Given the description of an element on the screen output the (x, y) to click on. 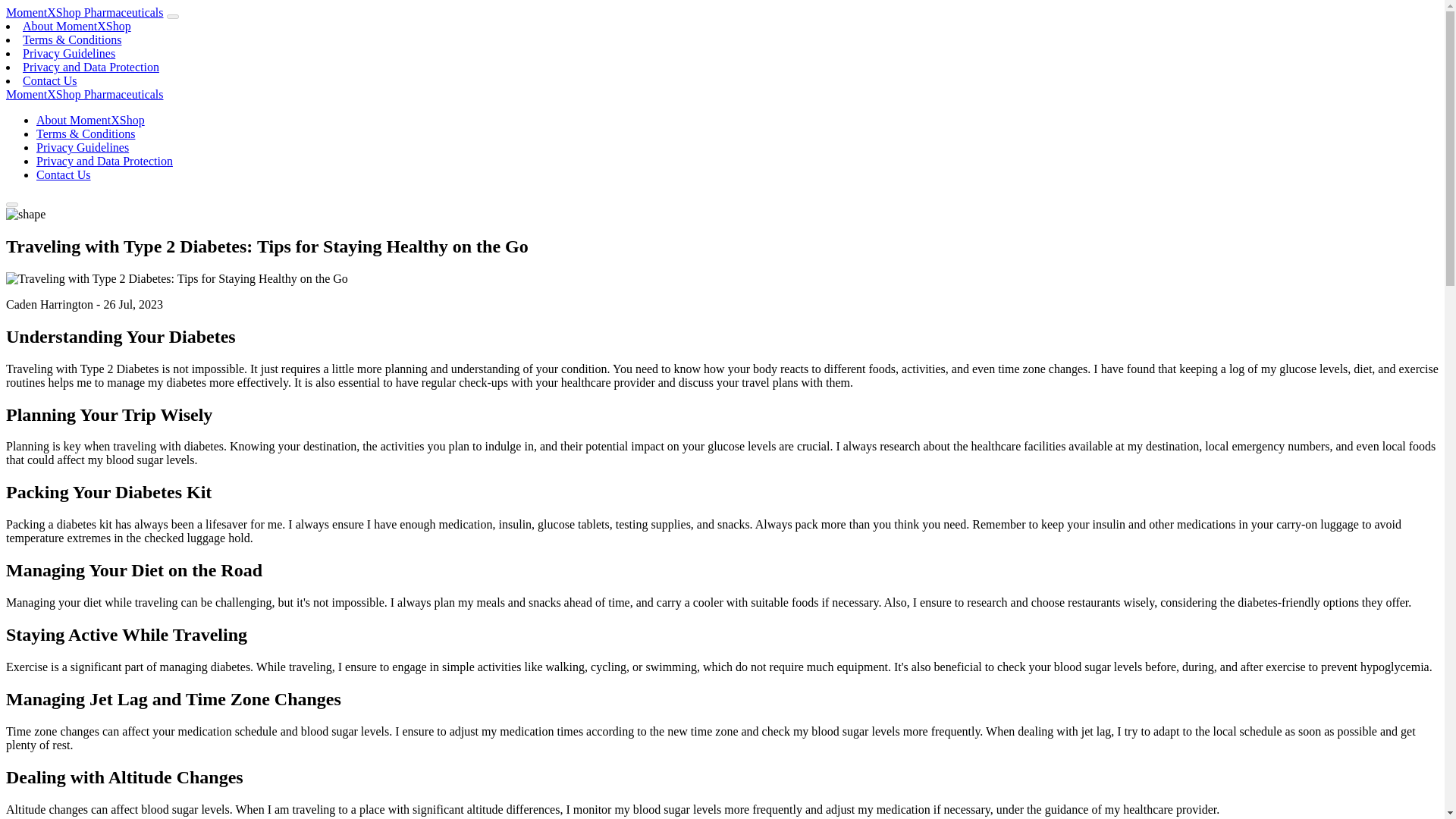
MomentXShop Pharmaceuticals (84, 11)
About MomentXShop (77, 25)
Contact Us (50, 80)
Contact Us (63, 174)
Privacy Guidelines (69, 52)
MomentXShop Pharmaceuticals (84, 93)
Privacy and Data Protection (90, 66)
Privacy Guidelines (82, 146)
Privacy and Data Protection (104, 160)
About MomentXShop (90, 119)
